Given the description of an element on the screen output the (x, y) to click on. 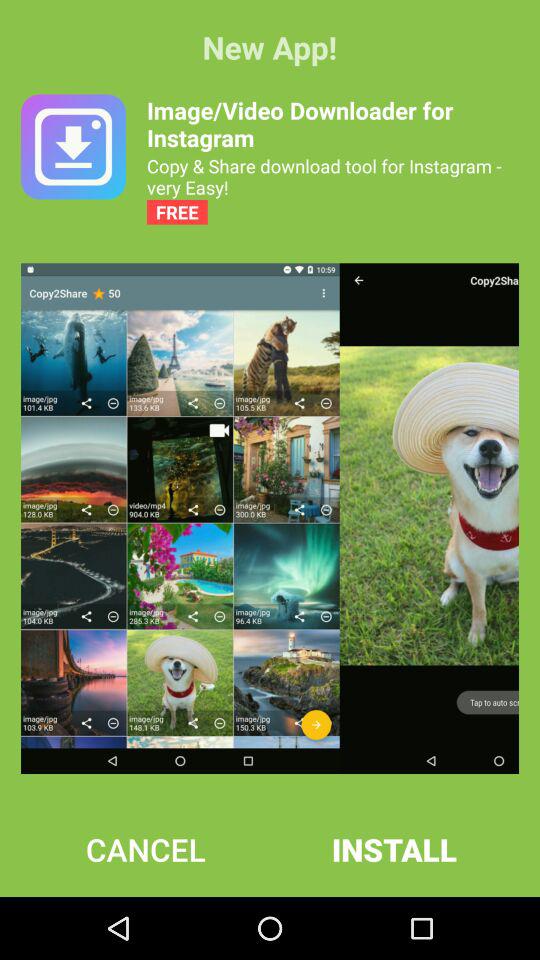
launch icon next to the cancel icon (394, 849)
